Given the description of an element on the screen output the (x, y) to click on. 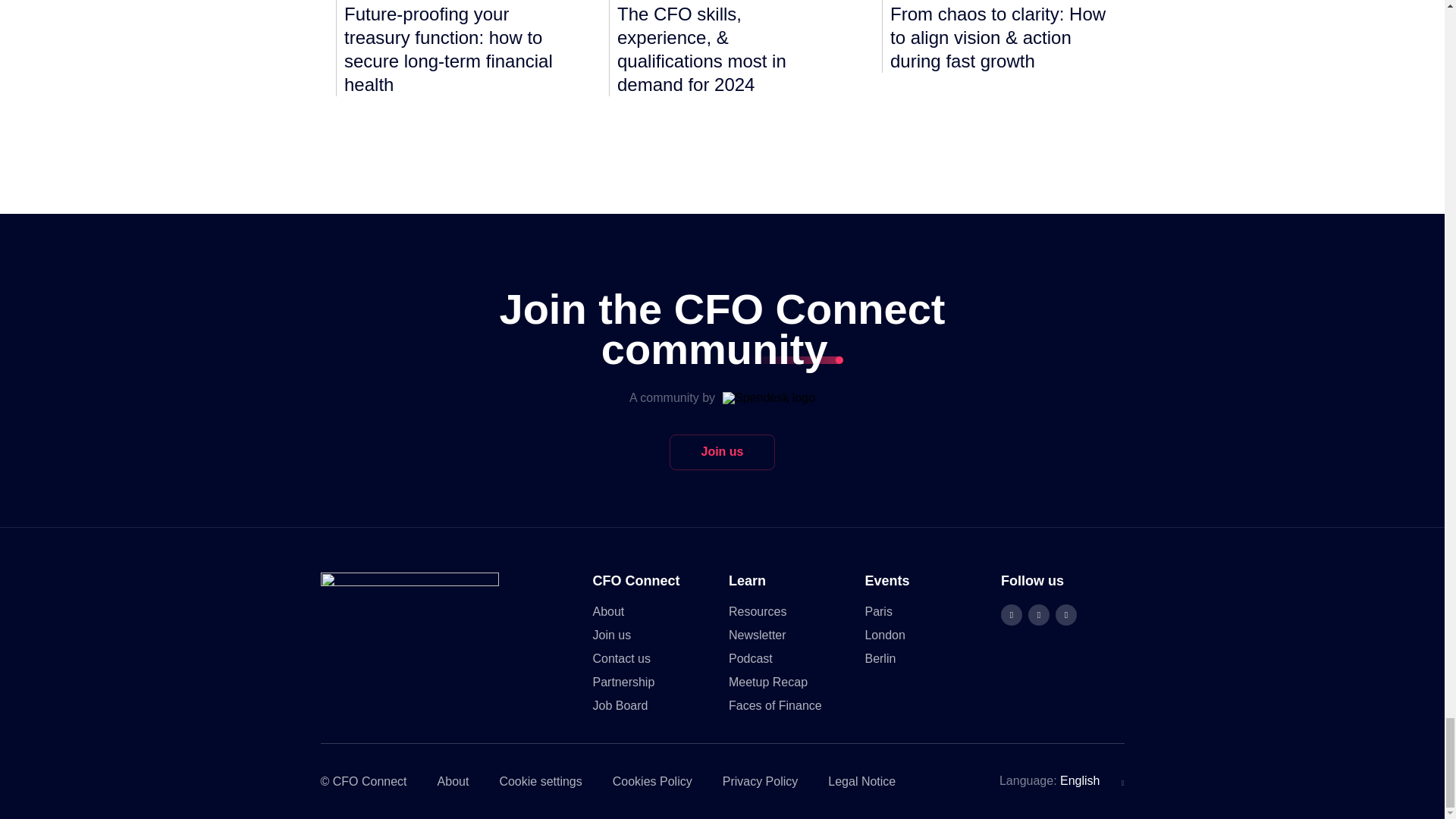
Contact us (621, 658)
Join us (721, 452)
Job Board (619, 705)
Faces of Finance (775, 705)
Paris (877, 611)
London (884, 634)
Resources (757, 611)
Join us (611, 634)
Newsletter (757, 634)
